Given the description of an element on the screen output the (x, y) to click on. 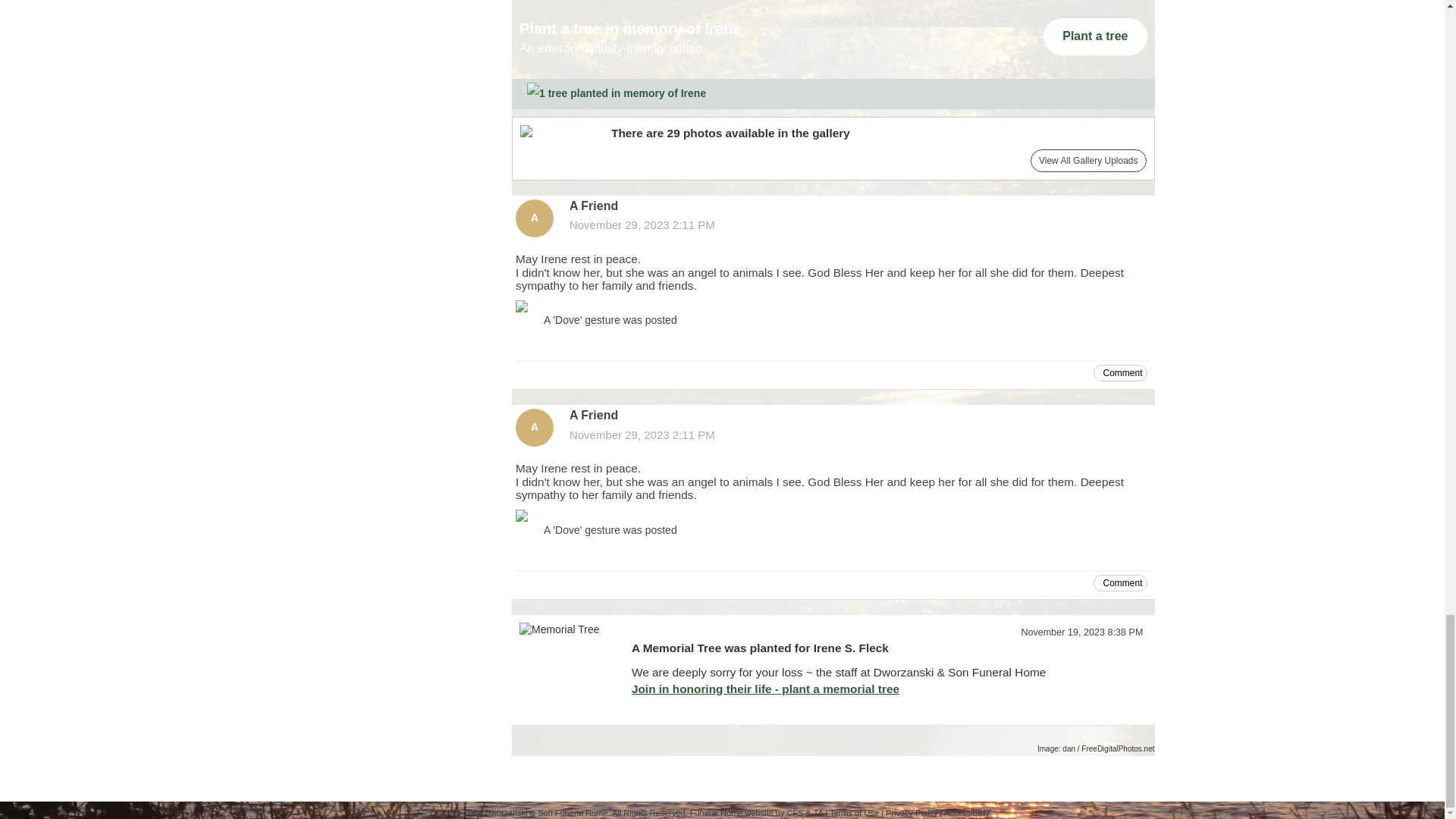
A Friend (534, 218)
A Friend (534, 427)
